Given the description of an element on the screen output the (x, y) to click on. 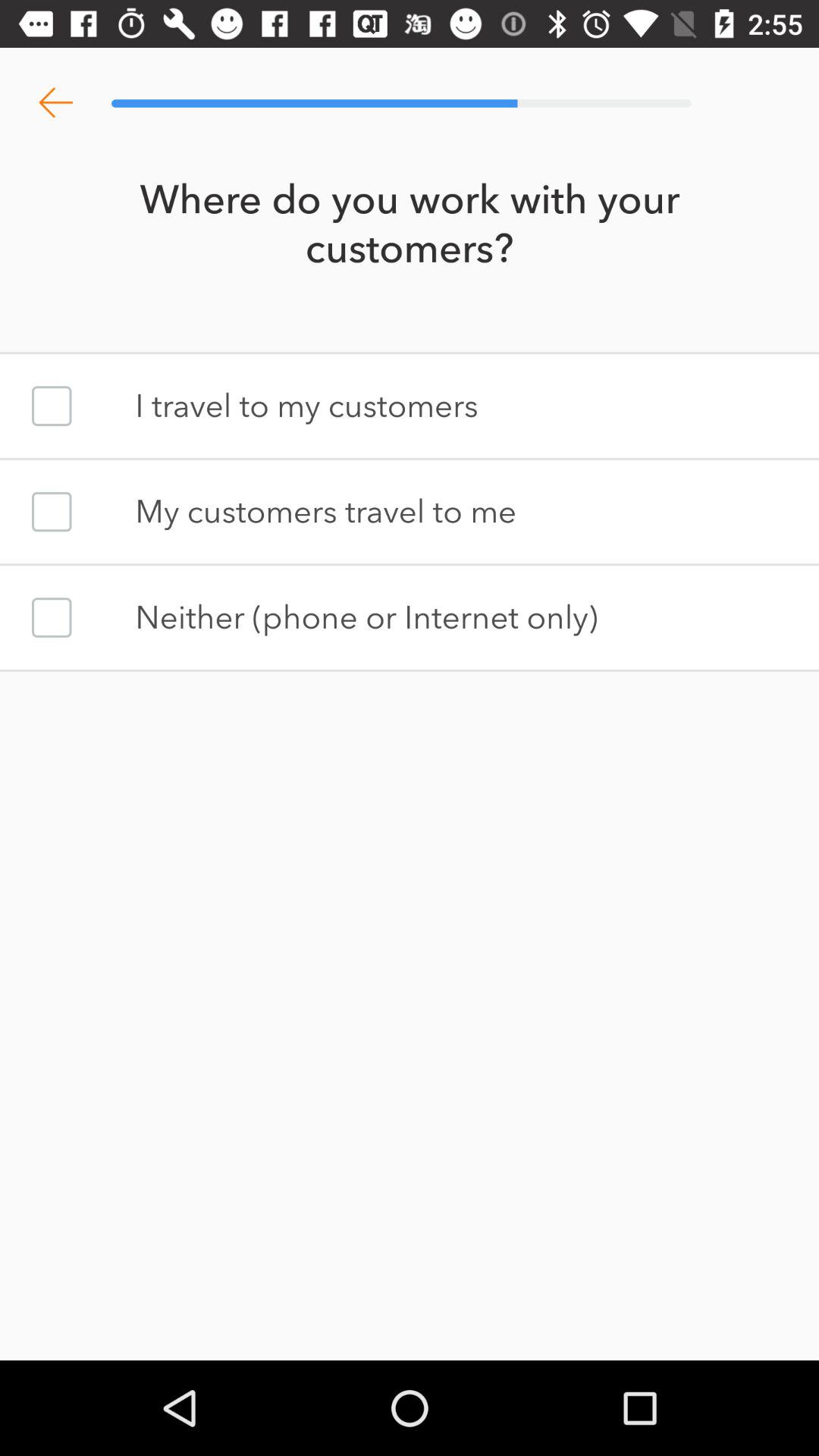
select answer (51, 617)
